Given the description of an element on the screen output the (x, y) to click on. 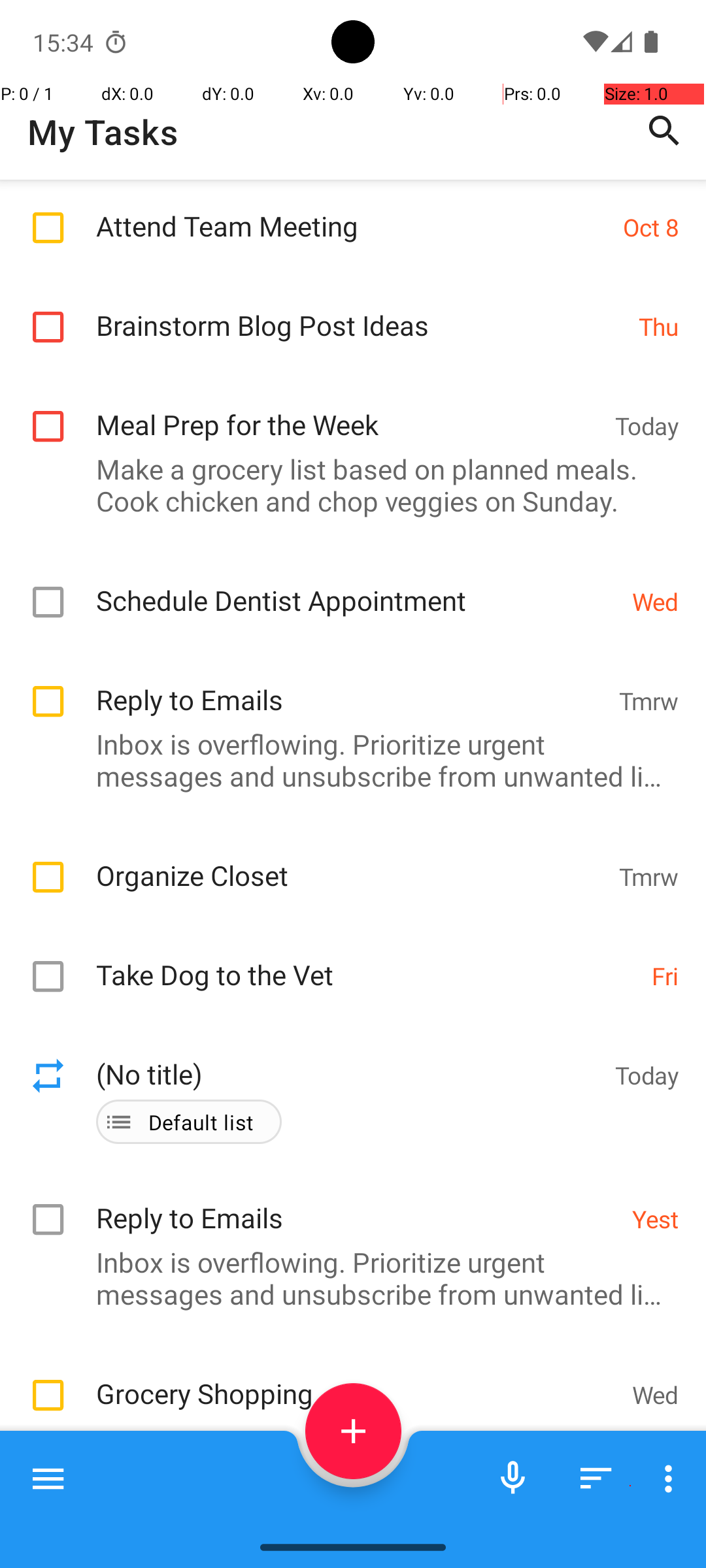
(No title) Element type: android.widget.TextView (348, 970)
